Given the description of an element on the screen output the (x, y) to click on. 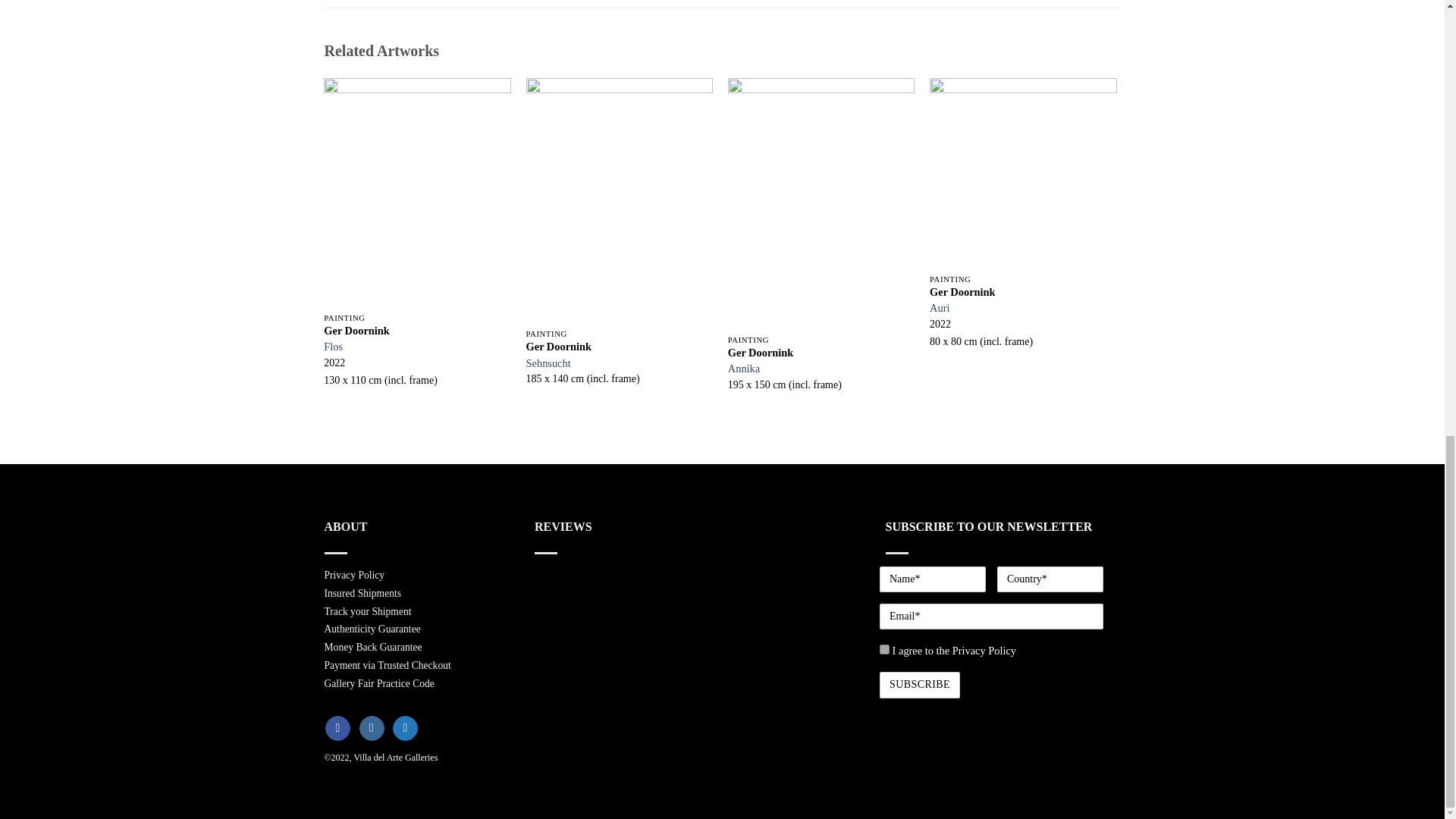
Follow on Twitter (405, 728)
Subscribe (919, 684)
Follow on Facebook (337, 728)
Follow on Instagram (371, 728)
